Given the description of an element on the screen output the (x, y) to click on. 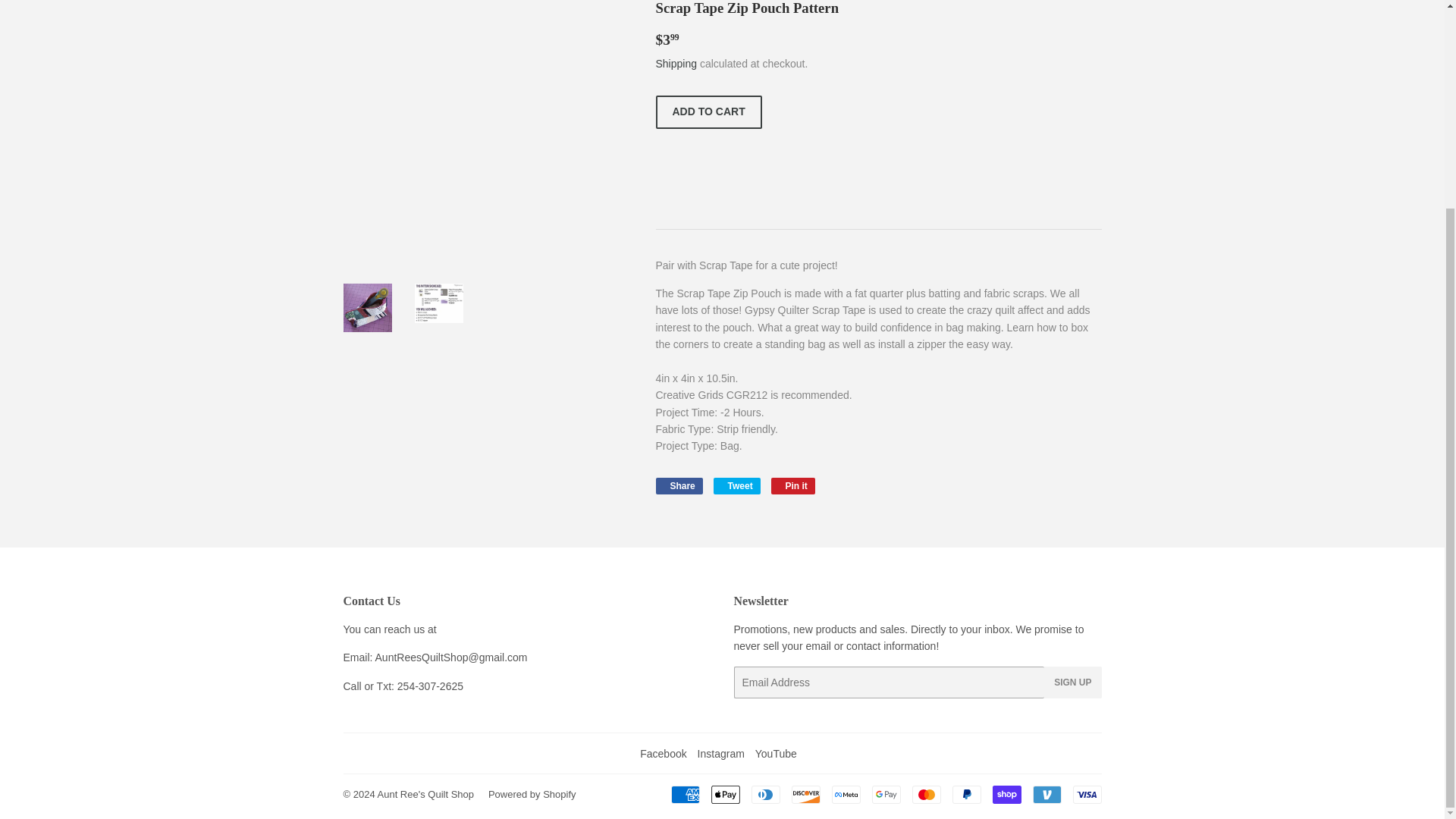
Tweet on Twitter (736, 485)
YouTube (775, 753)
Shipping (676, 63)
Instagram (720, 753)
Meta Pay (845, 794)
Facebook (662, 753)
Visa (736, 485)
SIGN UP (1085, 794)
Aunt Ree's Quilt Shop (1071, 682)
Discover (425, 794)
Share on Facebook (806, 794)
ADD TO CART (678, 485)
Google Pay (708, 111)
Apple Pay (886, 794)
